Given the description of an element on the screen output the (x, y) to click on. 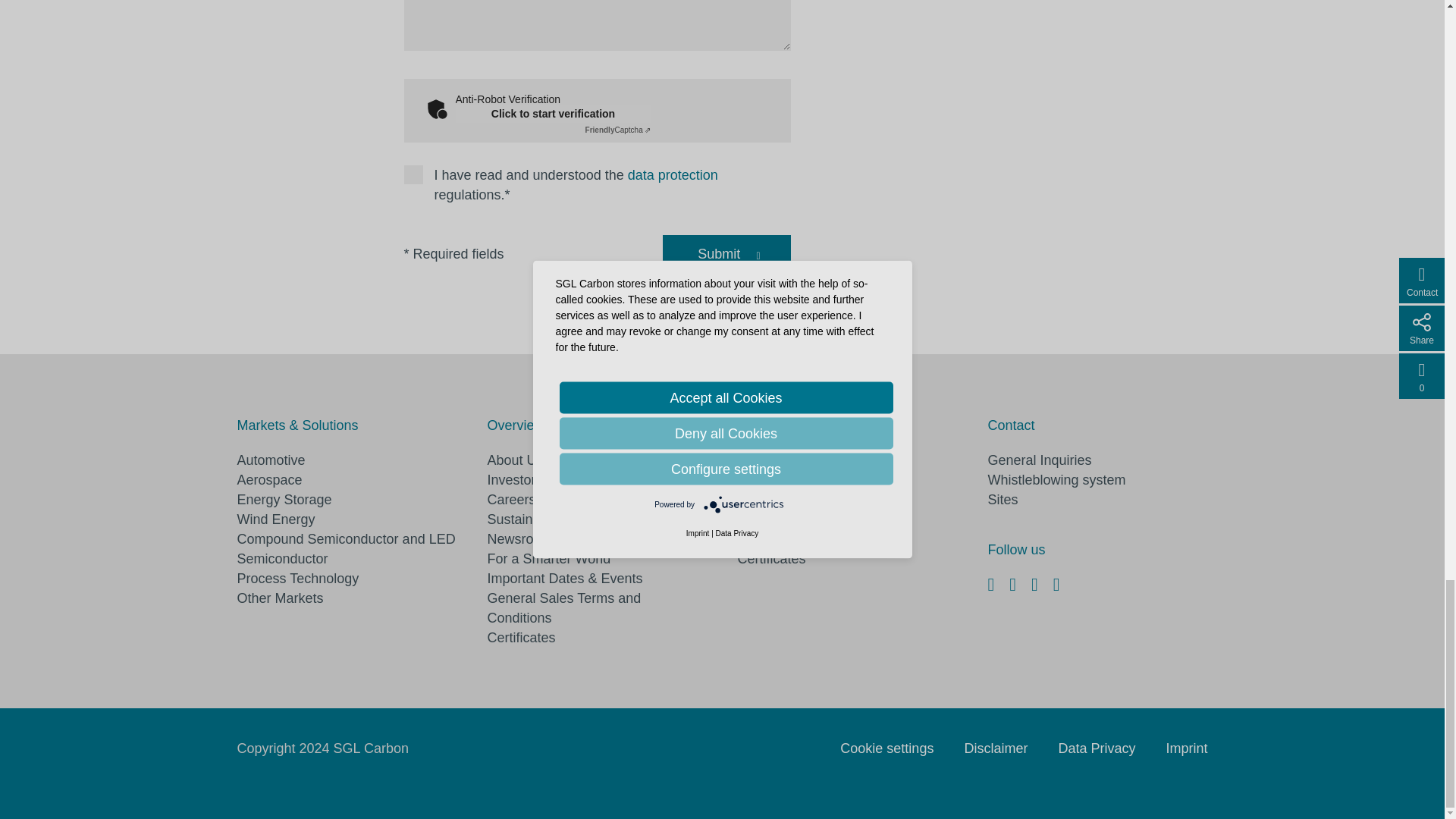
Submit (718, 253)
